Given the description of an element on the screen output the (x, y) to click on. 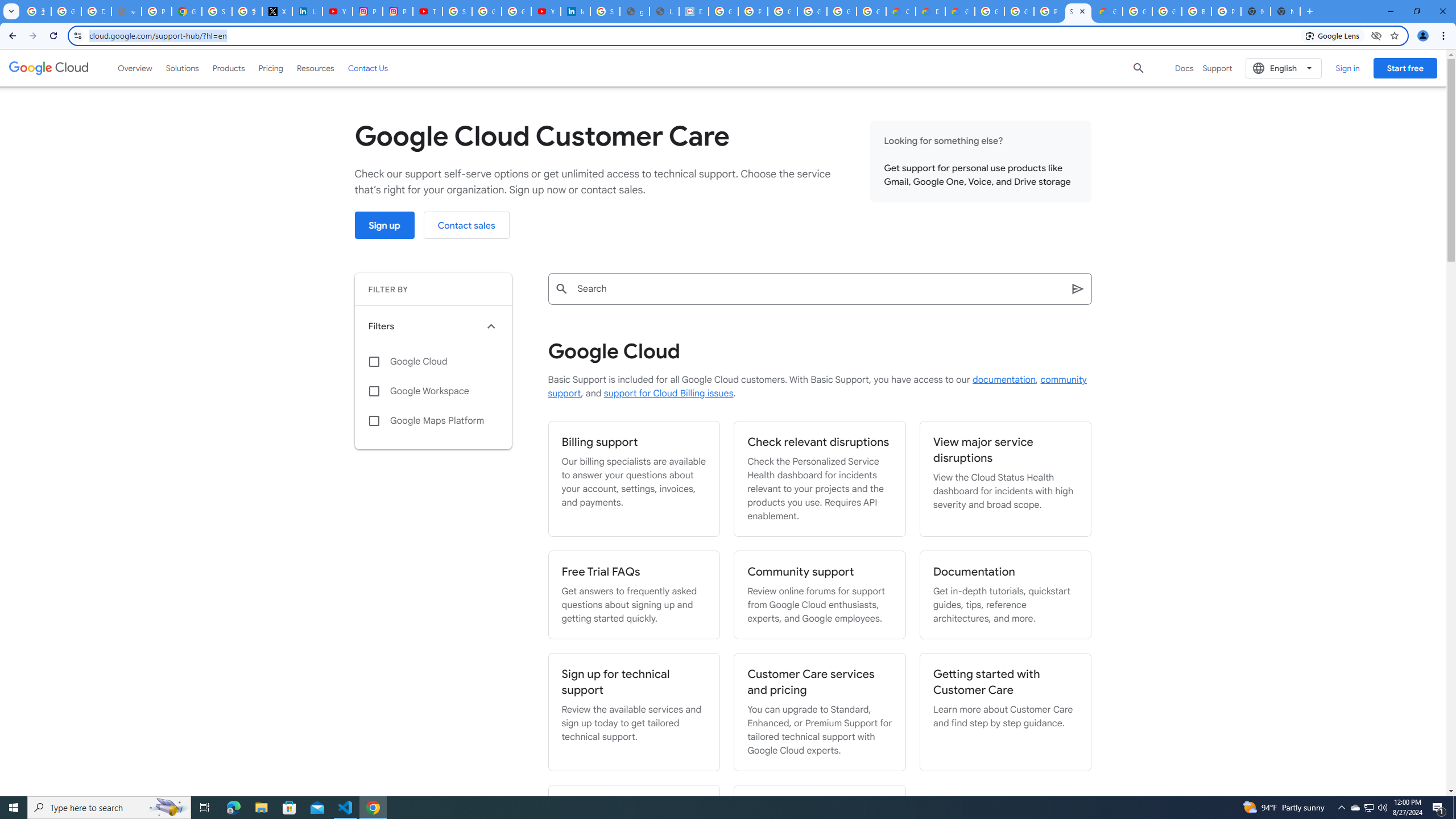
Google Cloud Platform (989, 11)
